Given the description of an element on the screen output the (x, y) to click on. 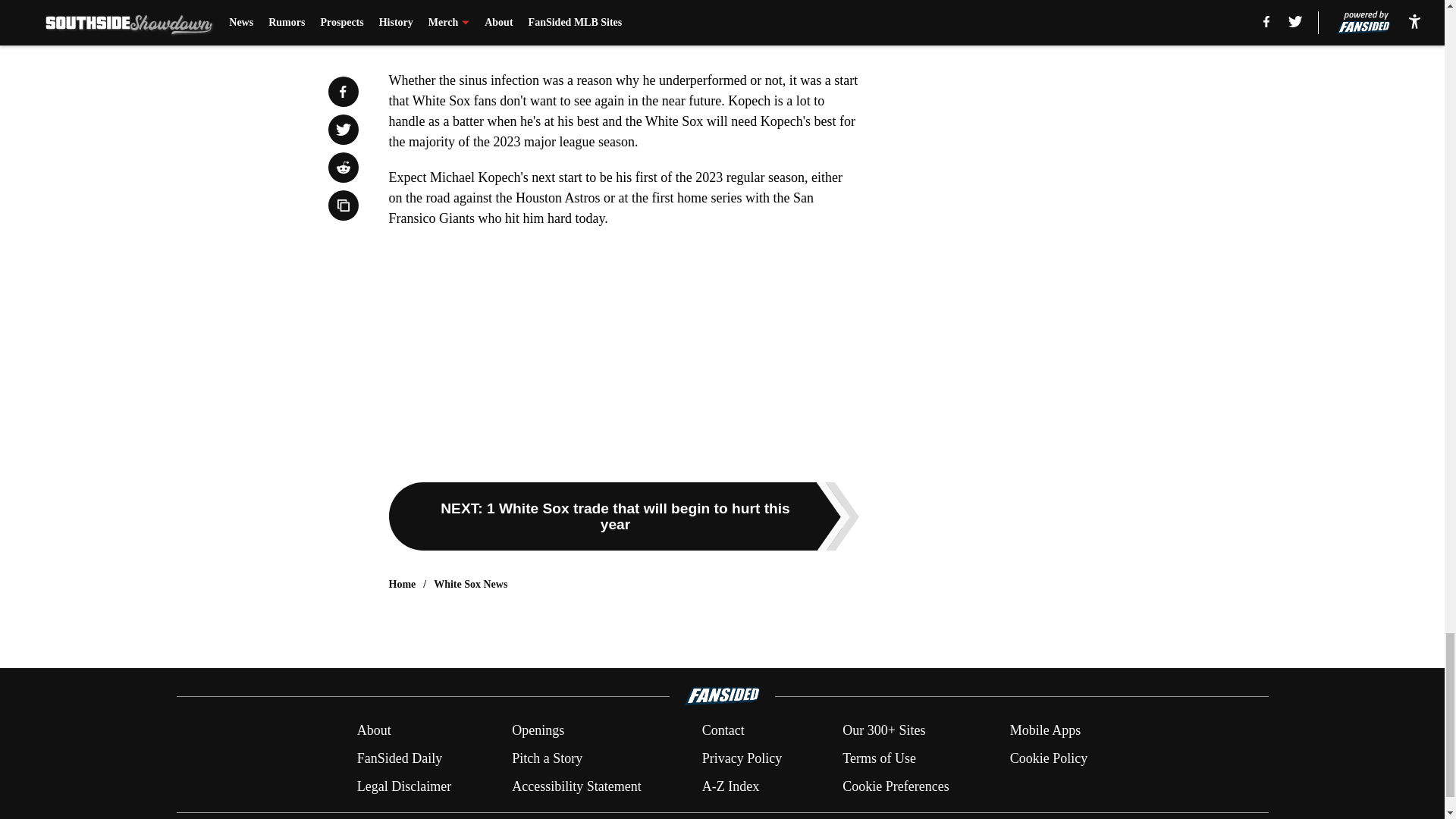
Home (401, 584)
About (373, 730)
Mobile Apps (1045, 730)
NEXT: 1 White Sox trade that will begin to hurt this year (623, 516)
Contact (722, 730)
FanSided Daily (399, 758)
Openings (538, 730)
White Sox News (469, 584)
March 23, 2023 (603, 35)
